Given the description of an element on the screen output the (x, y) to click on. 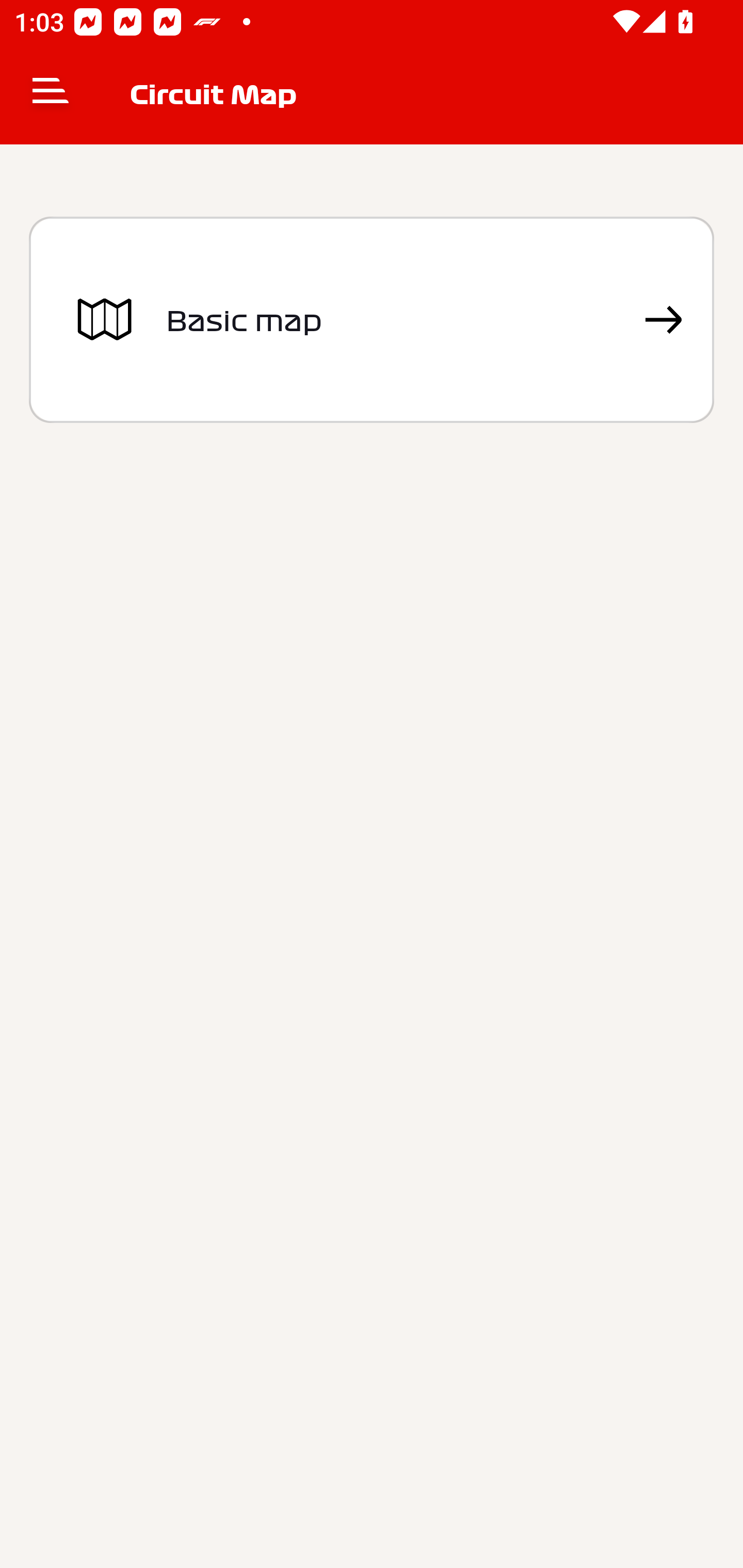
Navigate up (50, 93)
Basic map (371, 319)
